Given the description of an element on the screen output the (x, y) to click on. 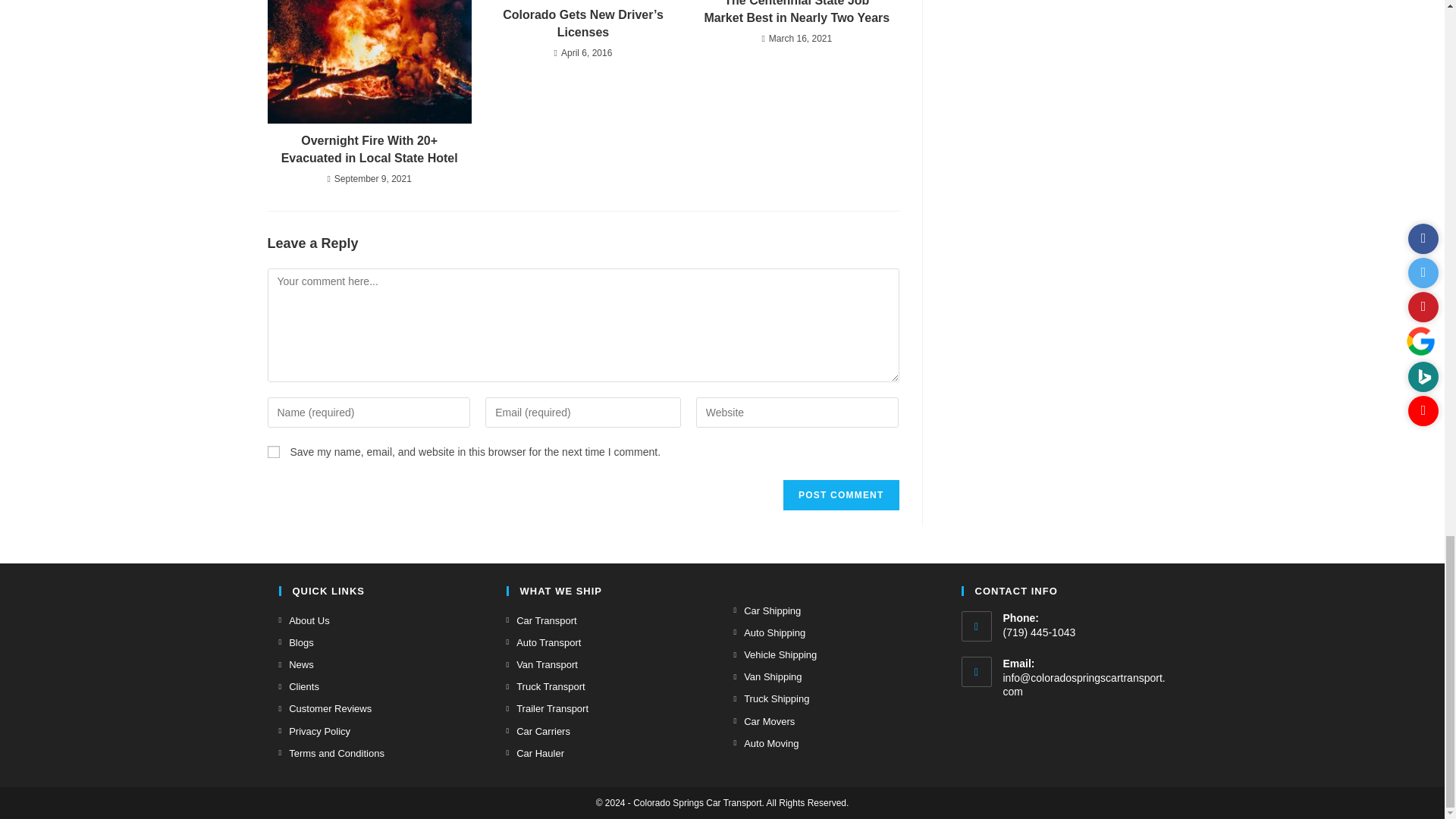
Post Comment (840, 494)
yes (272, 451)
